Given the description of an element on the screen output the (x, y) to click on. 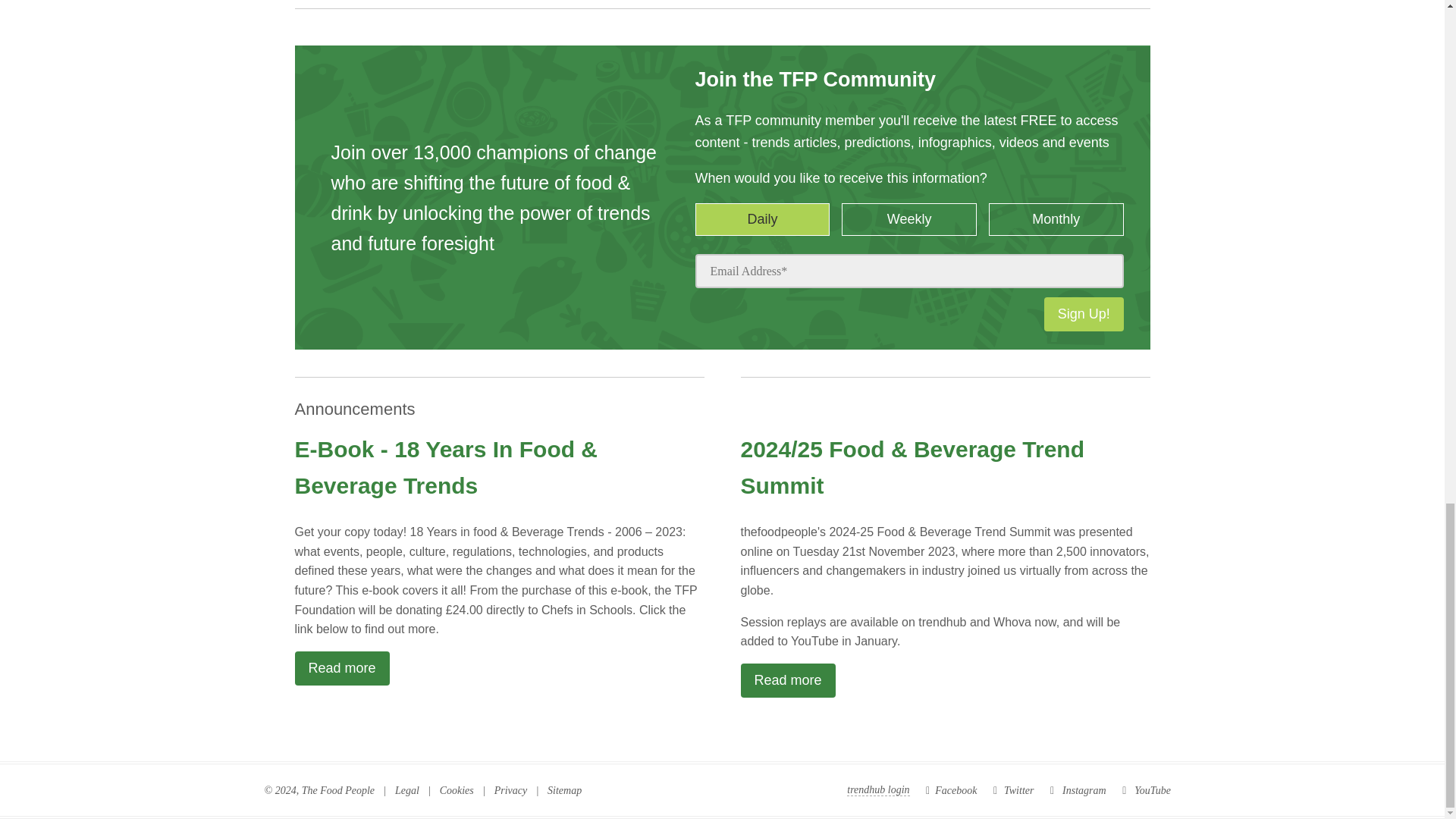
YouTube (1146, 790)
Cookies (456, 790)
Sitemap (563, 790)
Legal (406, 790)
Twitter (1012, 790)
Instagram (1077, 790)
Read more (786, 680)
Read more (341, 668)
Facebook (951, 790)
trendhub login (877, 790)
